Given the description of an element on the screen output the (x, y) to click on. 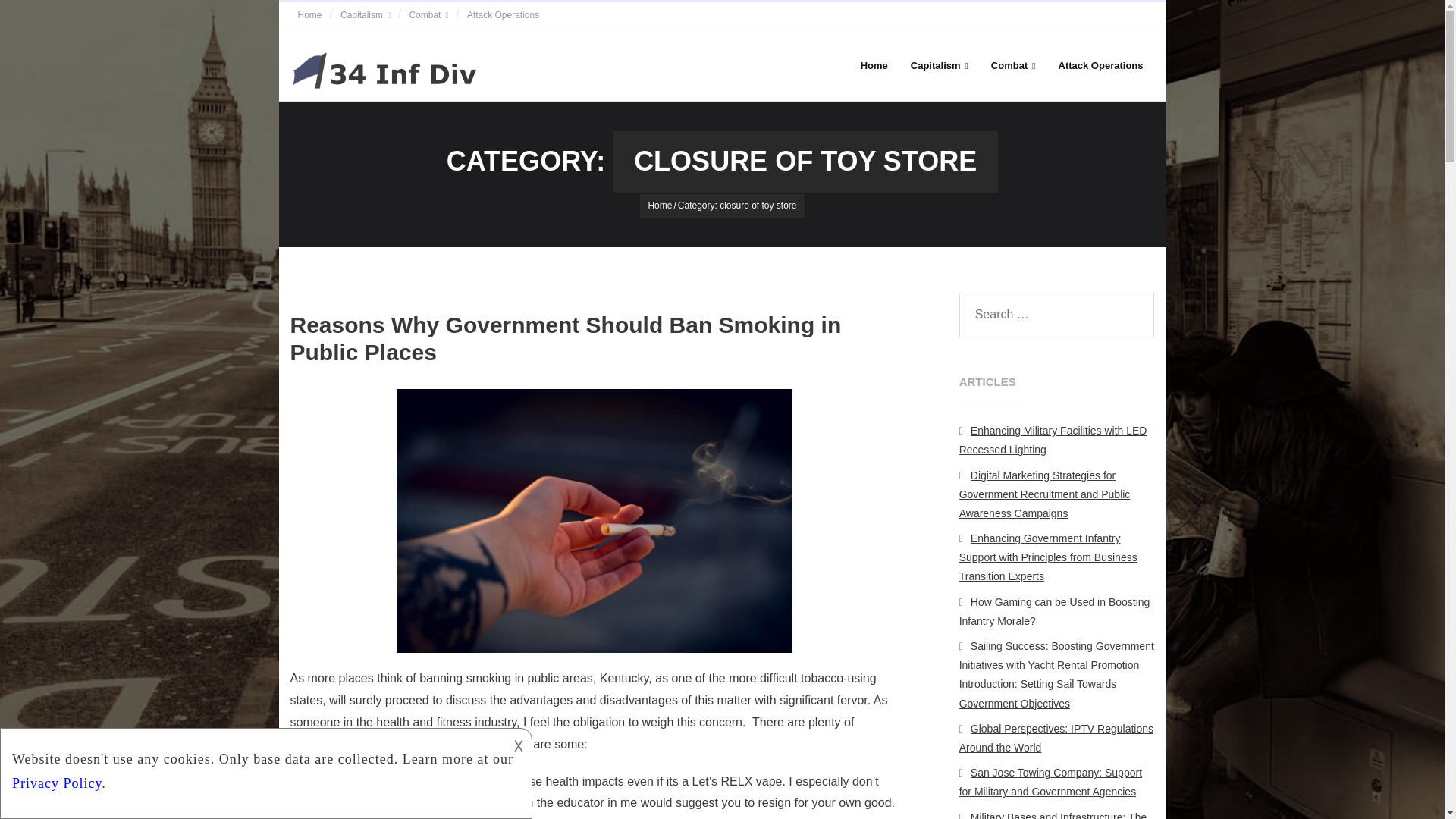
Attack Operations (1100, 65)
Attack Operations (503, 15)
description (264, 770)
Combat (1012, 65)
Capitalism (365, 15)
Capitalism (939, 65)
Combat (428, 15)
Home (309, 15)
